Given the description of an element on the screen output the (x, y) to click on. 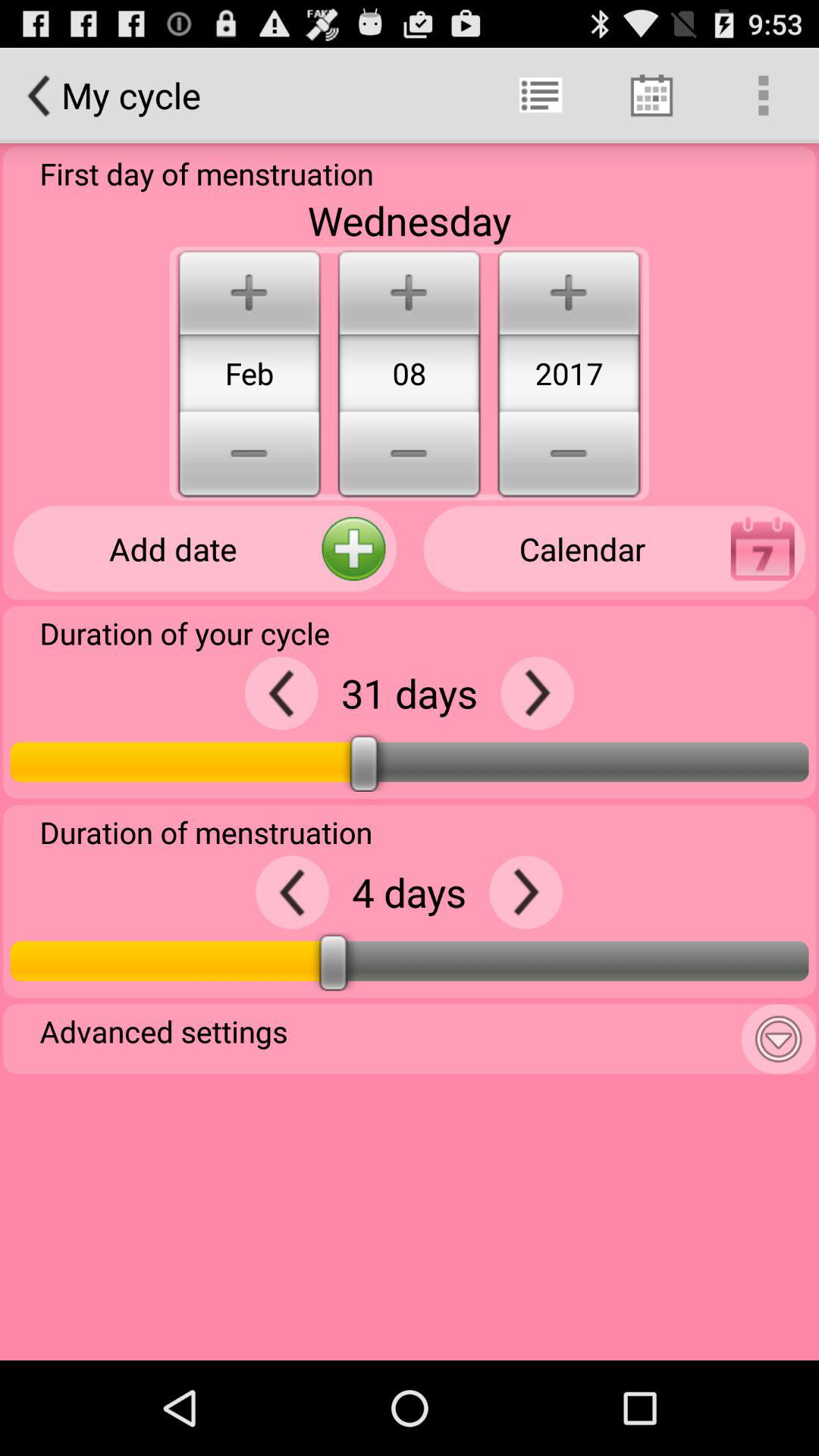
lower the cycle days (281, 693)
